Given the description of an element on the screen output the (x, y) to click on. 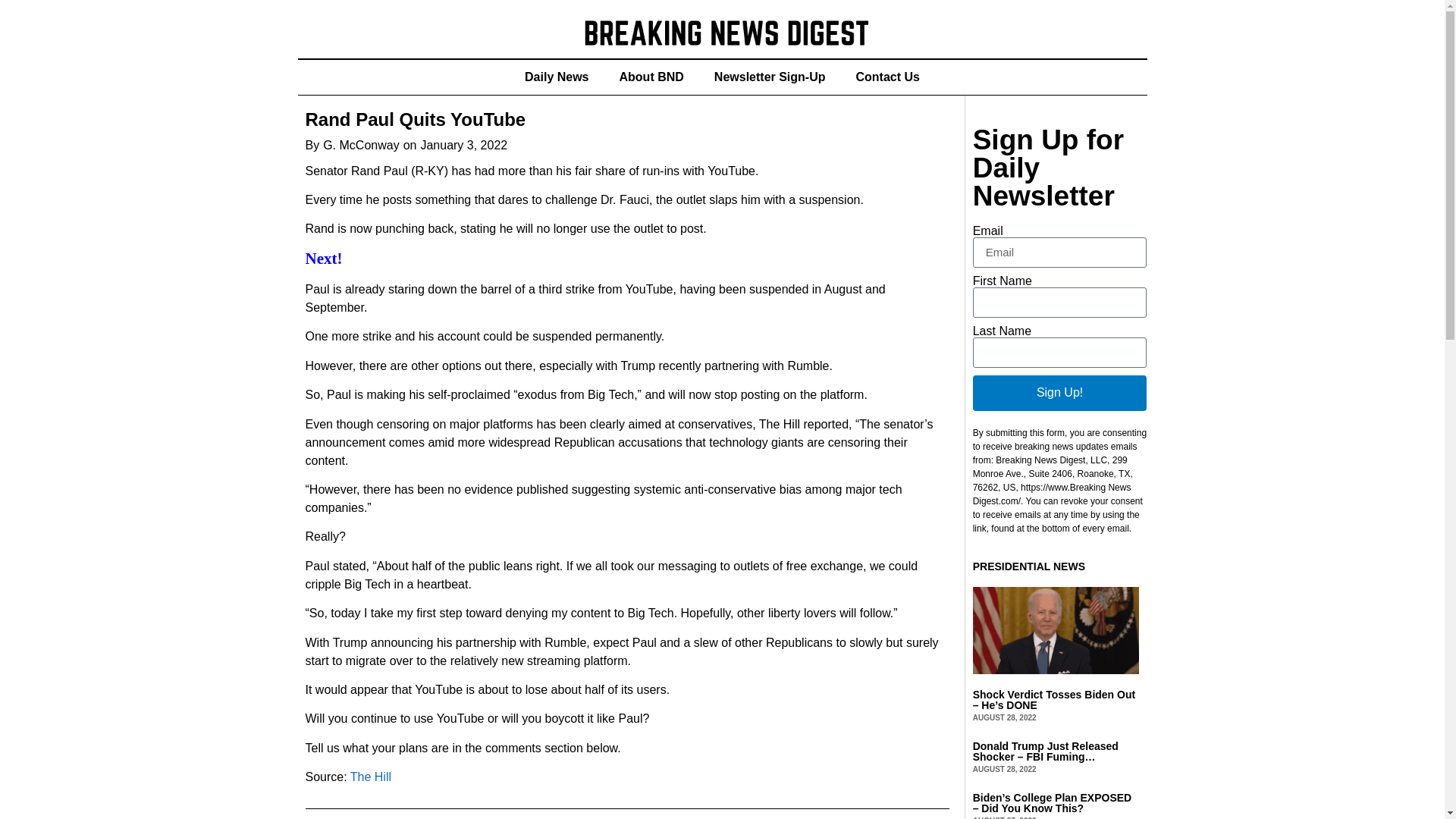
AUGUST 28, 2022 (1004, 769)
Newsletter Sign-Up (769, 77)
AUGUST 27, 2022 (1004, 818)
AUGUST 28, 2022 (1004, 717)
January 3, 2022 (463, 145)
G. McConway (360, 145)
About BND (651, 77)
The Hill (369, 776)
Contact Us (887, 77)
Daily News (556, 77)
